Given the description of an element on the screen output the (x, y) to click on. 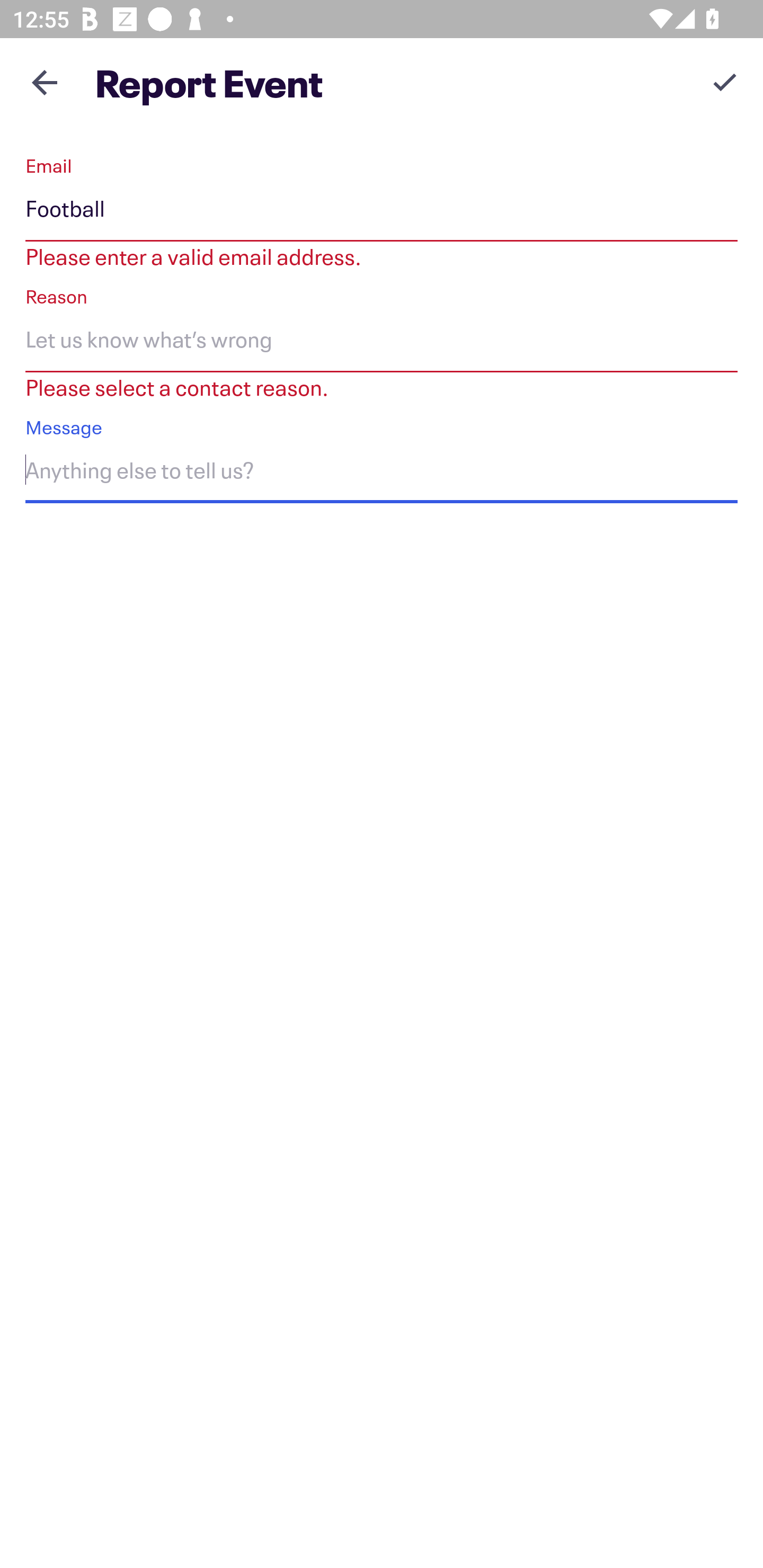
Navigate up (44, 82)
Save (724, 81)
Football (381, 211)
Let us know what’s wrong (381, 342)
Anything else to tell us? (381, 473)
